Given the description of an element on the screen output the (x, y) to click on. 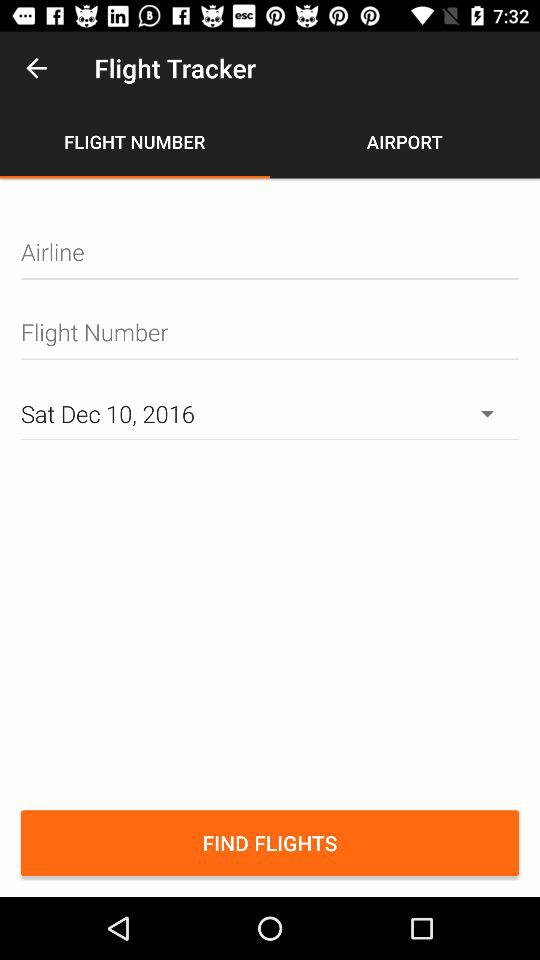
jump until find flights icon (270, 843)
